Given the description of an element on the screen output the (x, y) to click on. 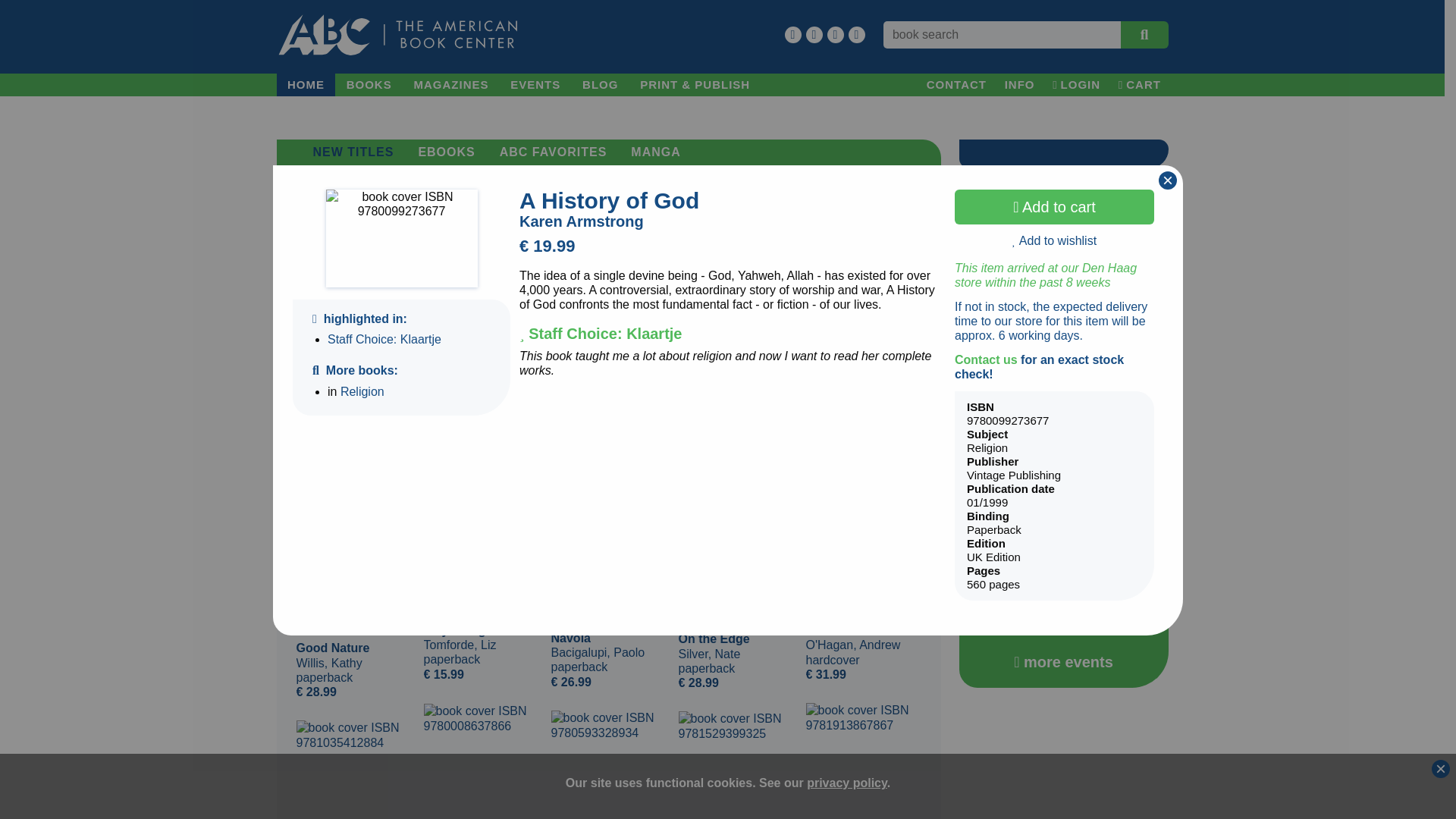
LOGIN (1076, 84)
CONTACT (955, 84)
The American Book Center (397, 34)
EVENTS (535, 84)
HOME (305, 84)
MAGAZINES (451, 84)
The Unwilding (480, 761)
Time of the Flies (862, 760)
Big Vegan Flavor (607, 764)
Wicked Serve (352, 769)
